Given the description of an element on the screen output the (x, y) to click on. 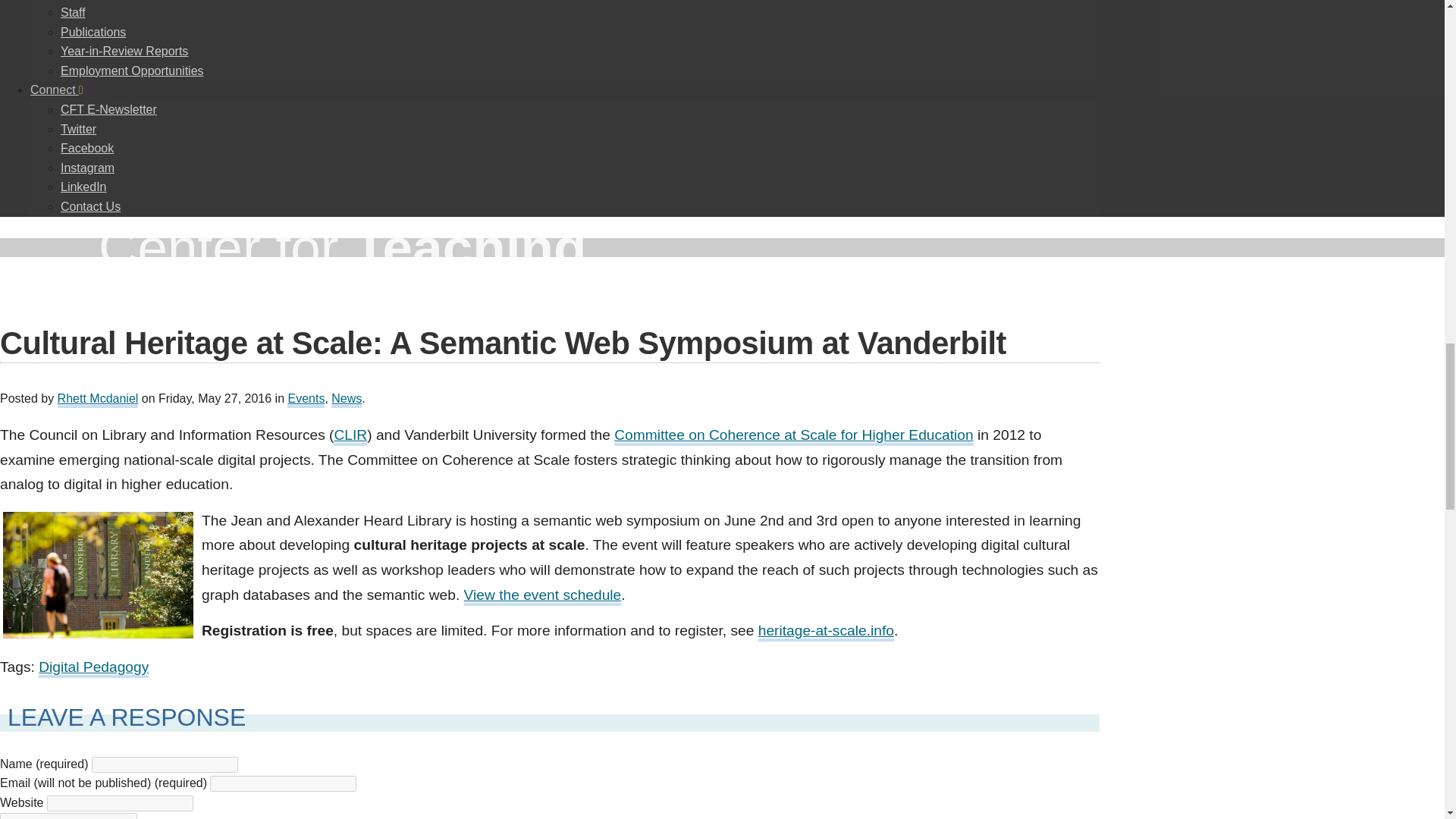
Posts by Rhett Mcdaniel (98, 399)
